Given the description of an element on the screen output the (x, y) to click on. 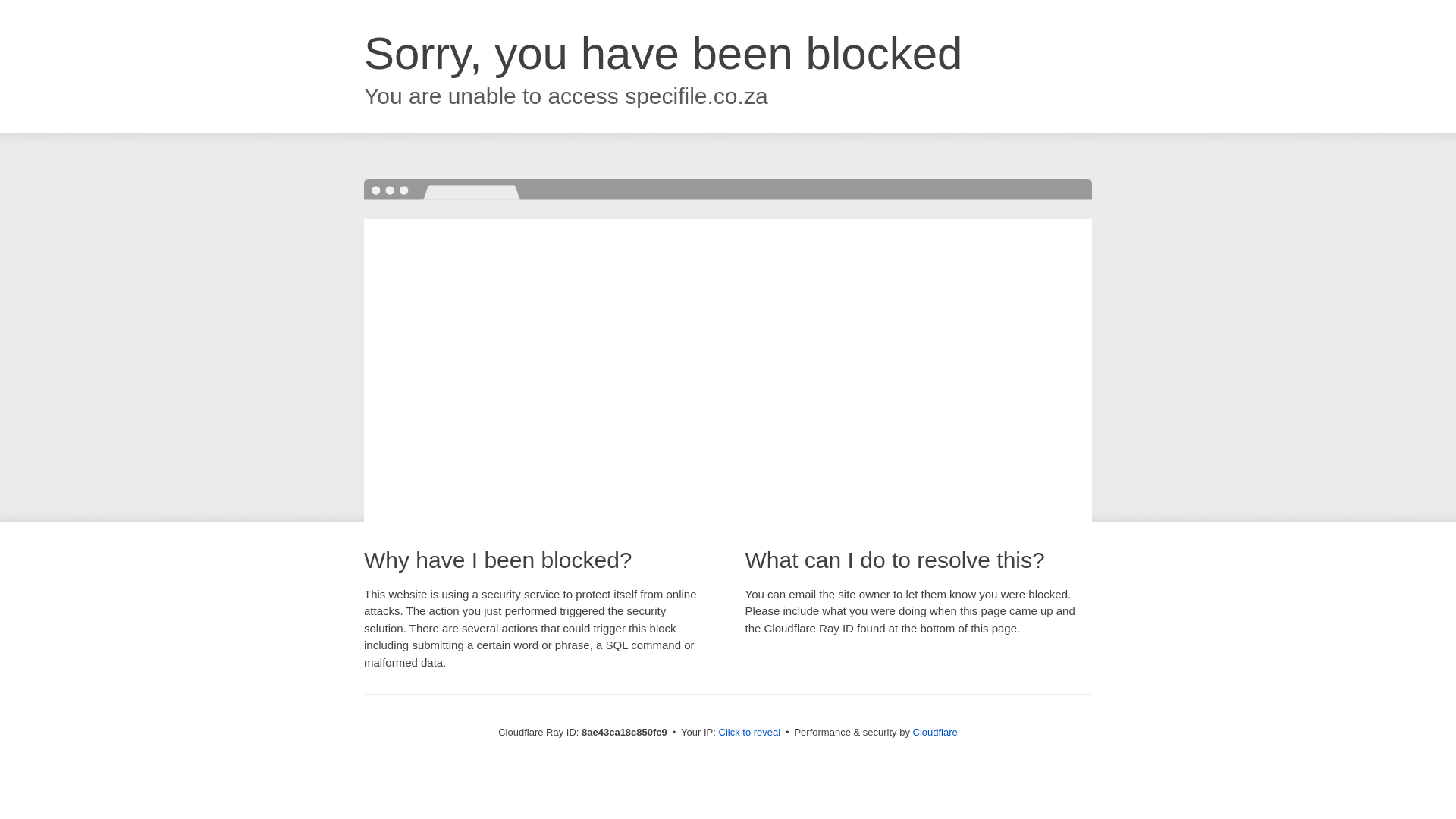
Click to reveal (749, 732)
Cloudflare (935, 731)
